Given the description of an element on the screen output the (x, y) to click on. 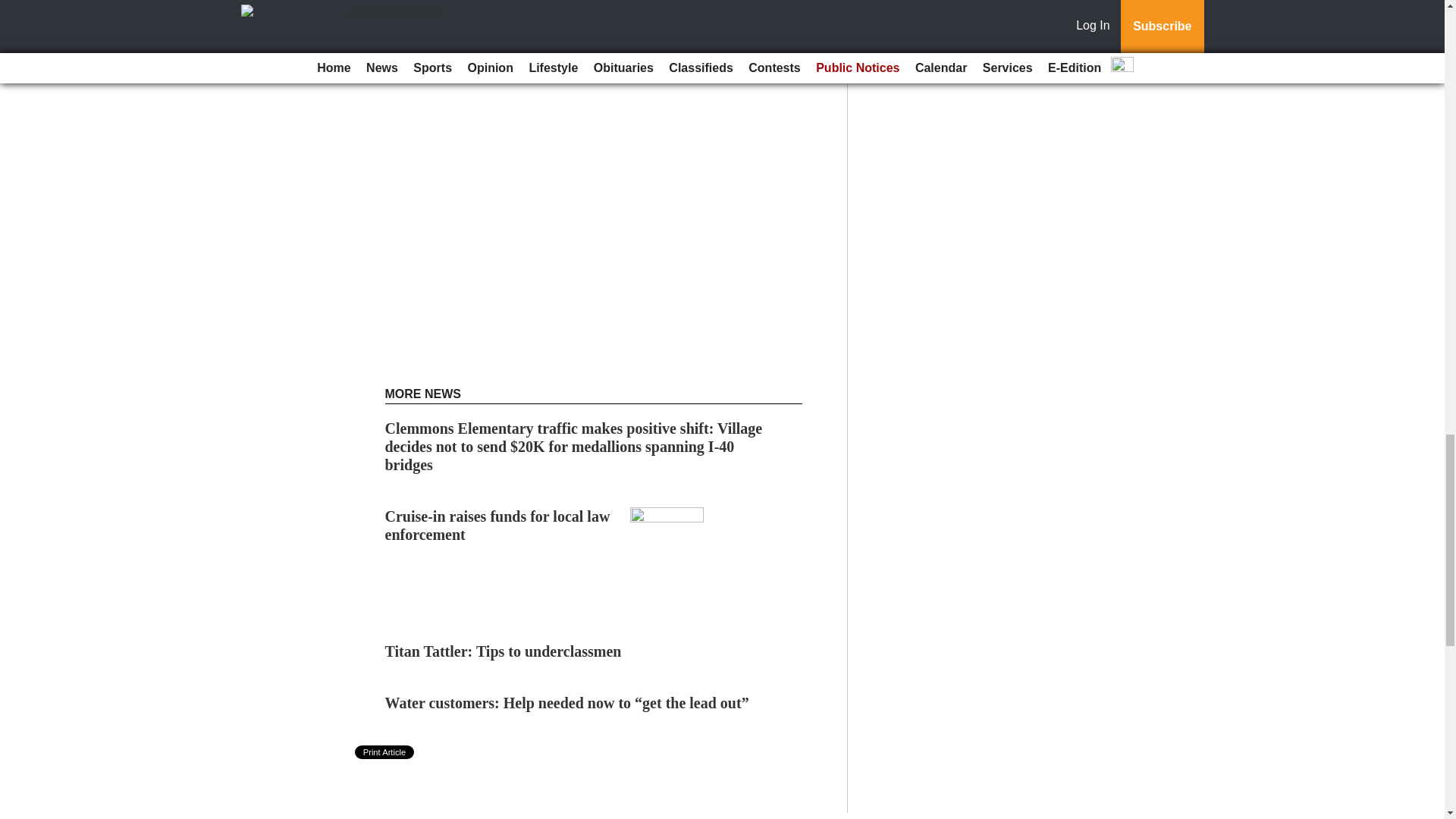
Cruise-in raises funds for local law enforcement (497, 524)
Titan Tattler: Tips to underclassmen (503, 651)
Titan Tattler: Tips to underclassmen (503, 651)
Cruise-in raises funds for local law enforcement (497, 524)
Print Article (384, 752)
